Given the description of an element on the screen output the (x, y) to click on. 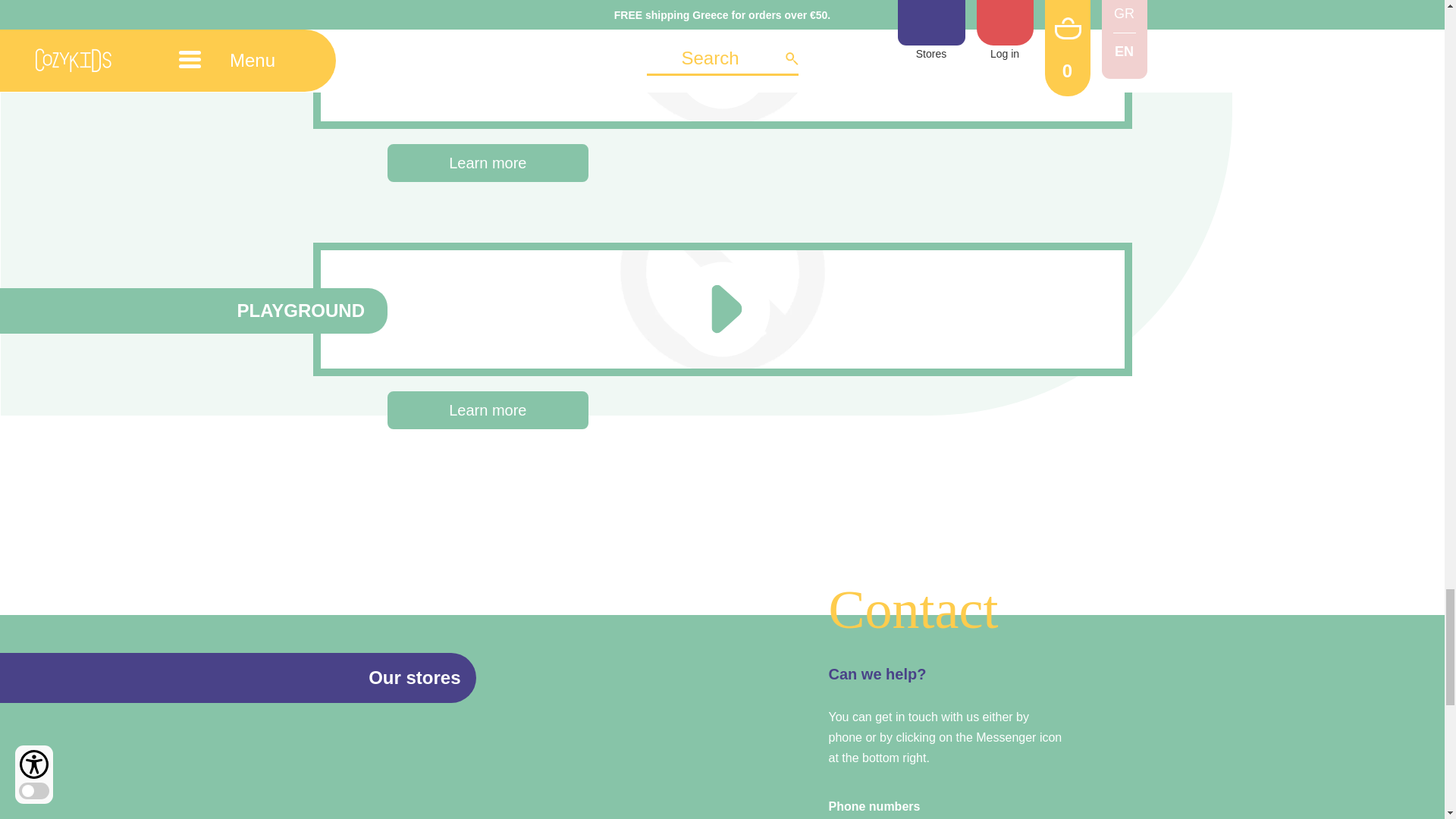
CozyKids Playground video (433, 59)
CozyKids Playground video (433, 306)
